Given the description of an element on the screen output the (x, y) to click on. 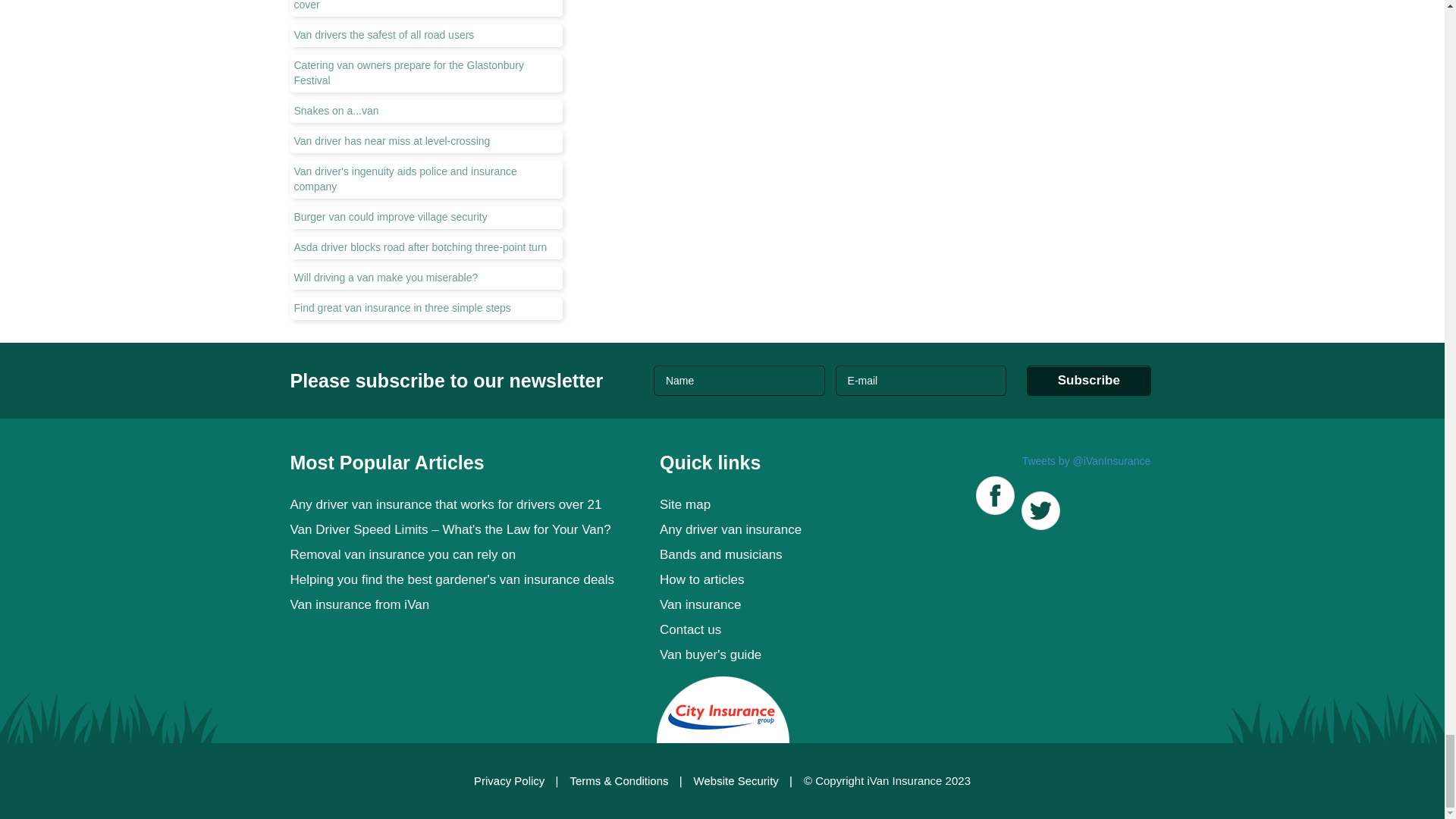
Subscribe (1088, 380)
E-mail (921, 380)
Name (739, 380)
